Given the description of an element on the screen output the (x, y) to click on. 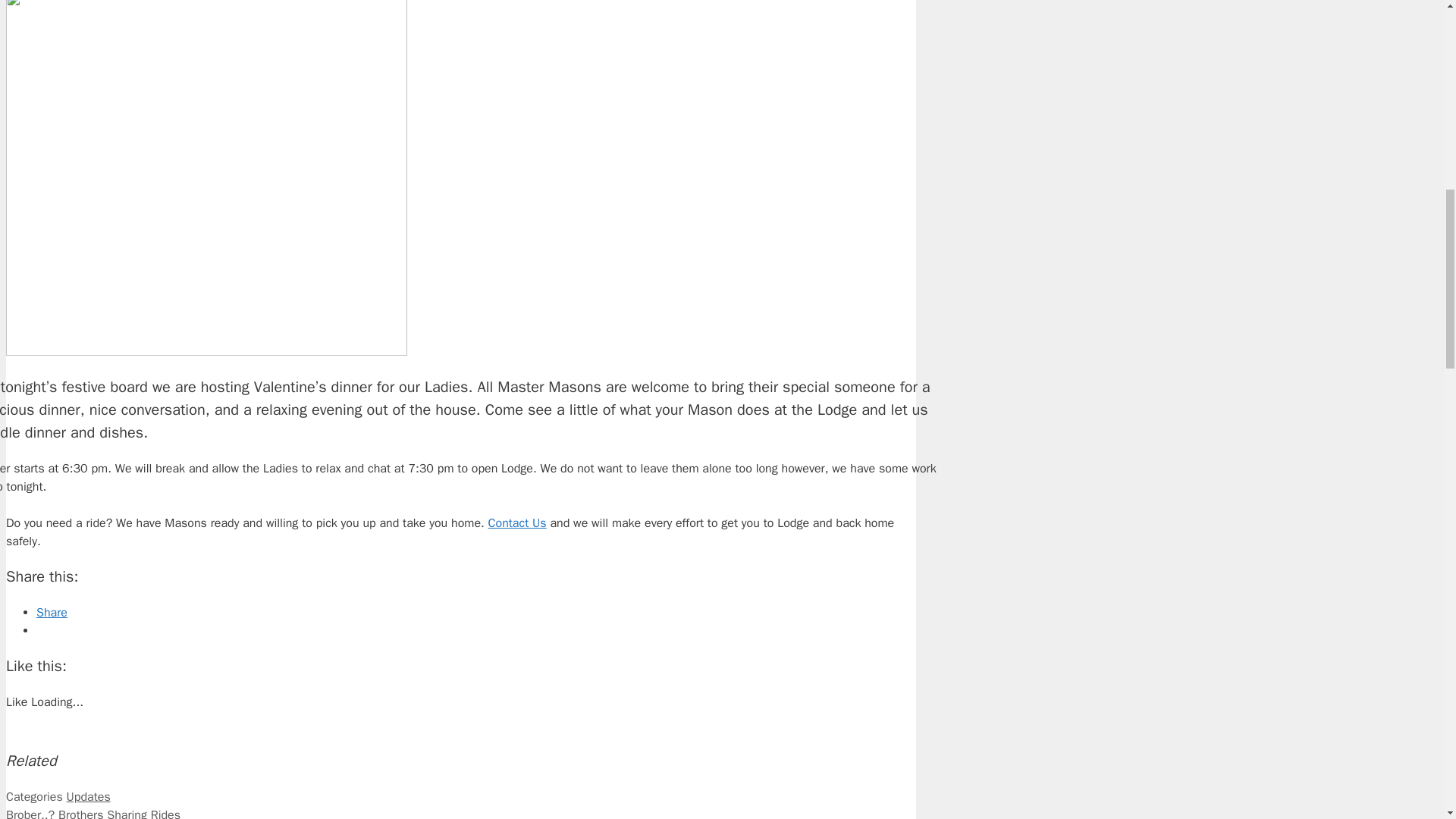
Contact Us (517, 522)
Brober..? Brothers Sharing Rides (92, 813)
Share (51, 612)
Updates (88, 796)
